Given the description of an element on the screen output the (x, y) to click on. 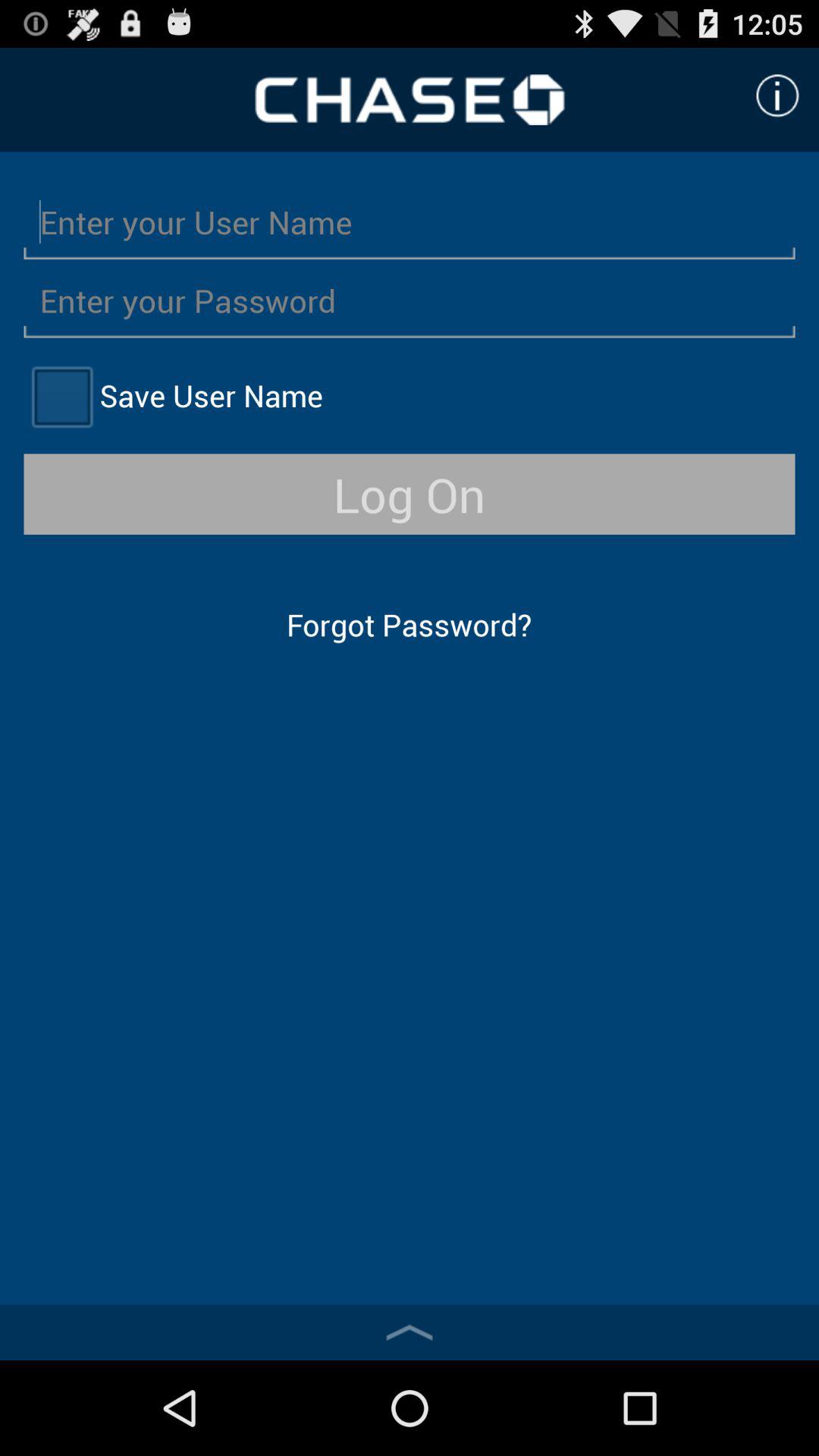
press the icon above log on item (61, 395)
